Given the description of an element on the screen output the (x, y) to click on. 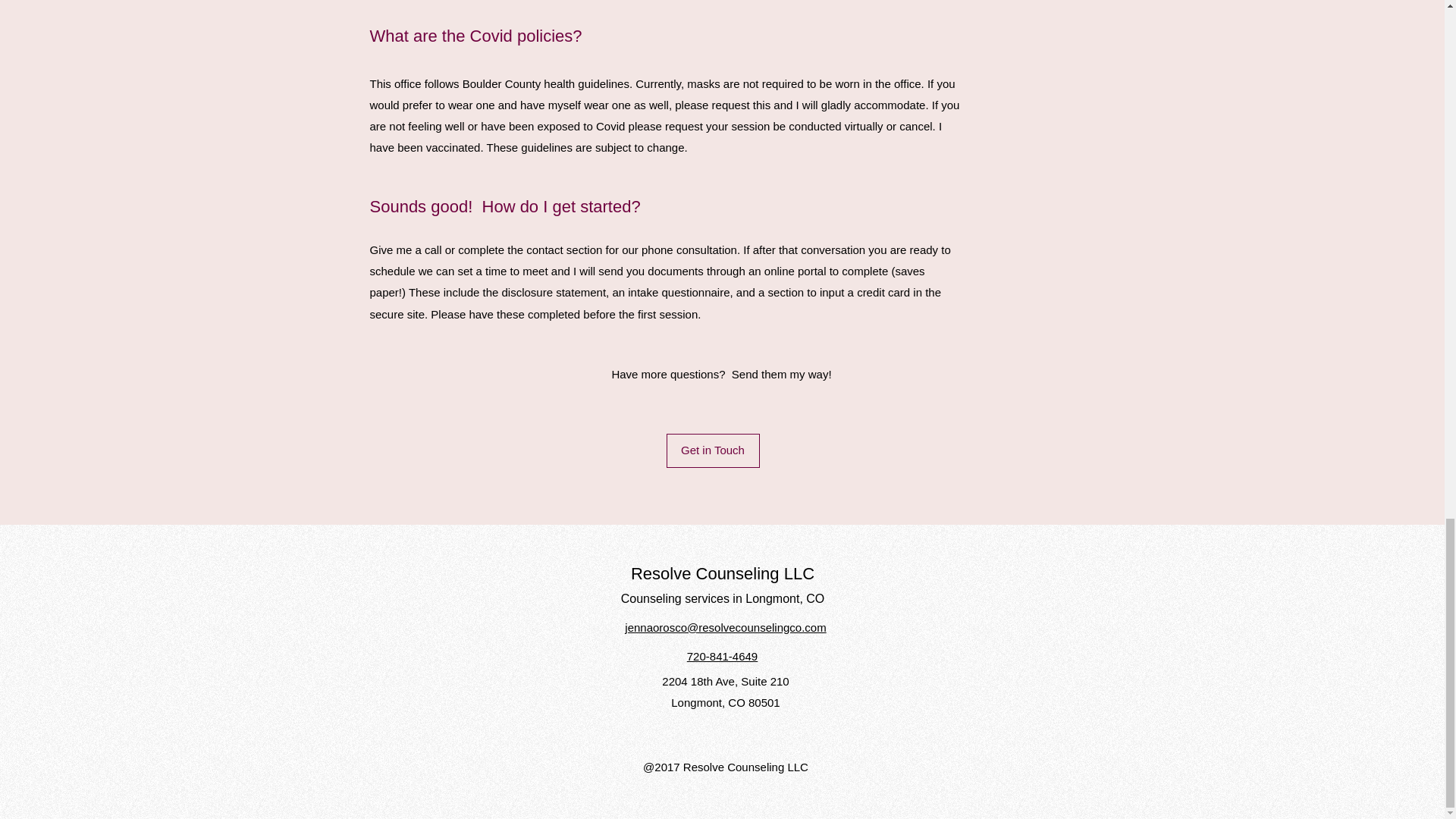
720-841-4649 (722, 656)
Get in Touch (711, 450)
